Given the description of an element on the screen output the (x, y) to click on. 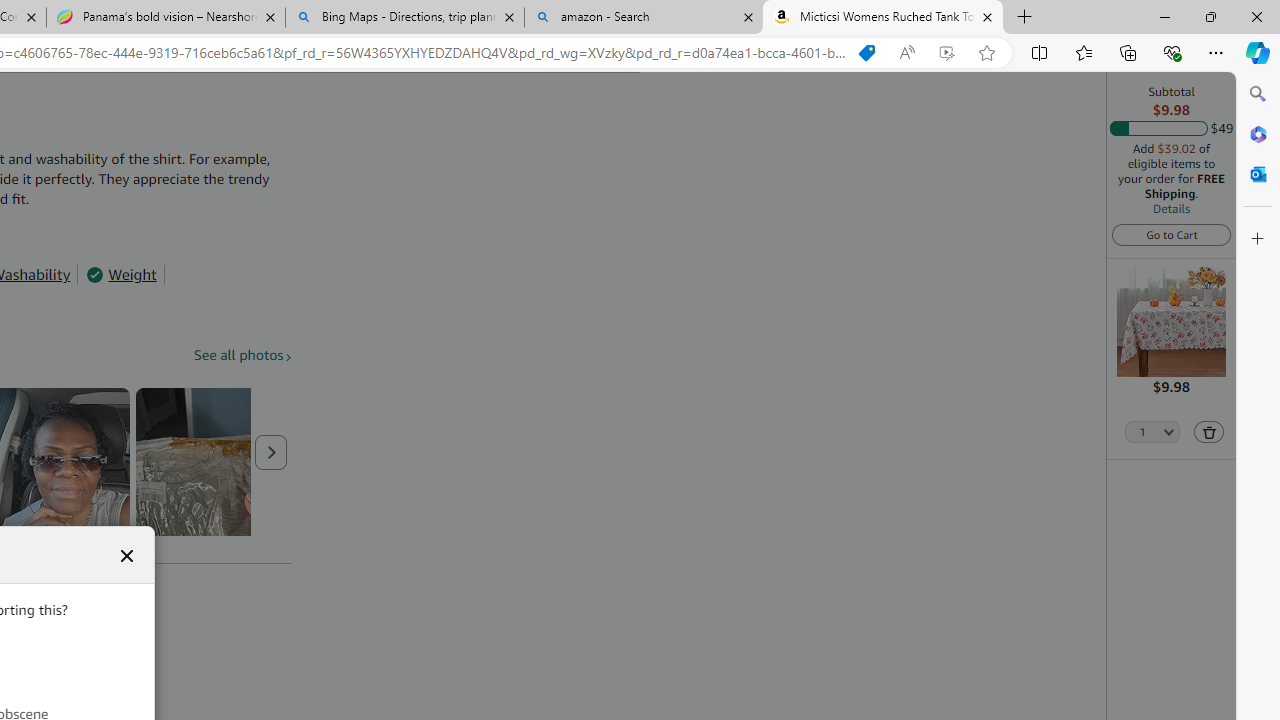
Weight (121, 274)
Enhance video (946, 53)
Shopping in Microsoft Edge (867, 53)
